Given the description of an element on the screen output the (x, y) to click on. 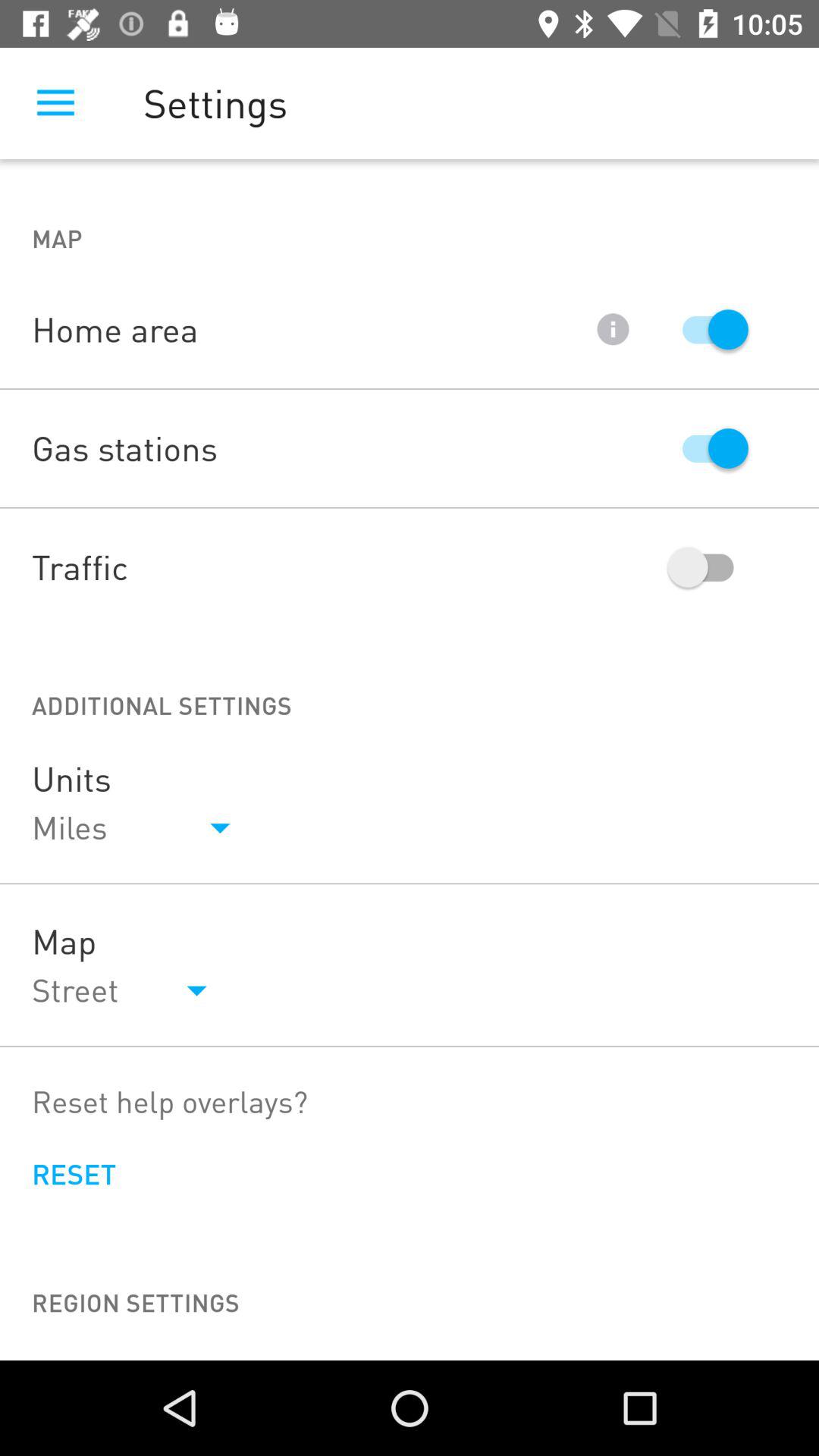
trafiic on off button (707, 567)
